Given the description of an element on the screen output the (x, y) to click on. 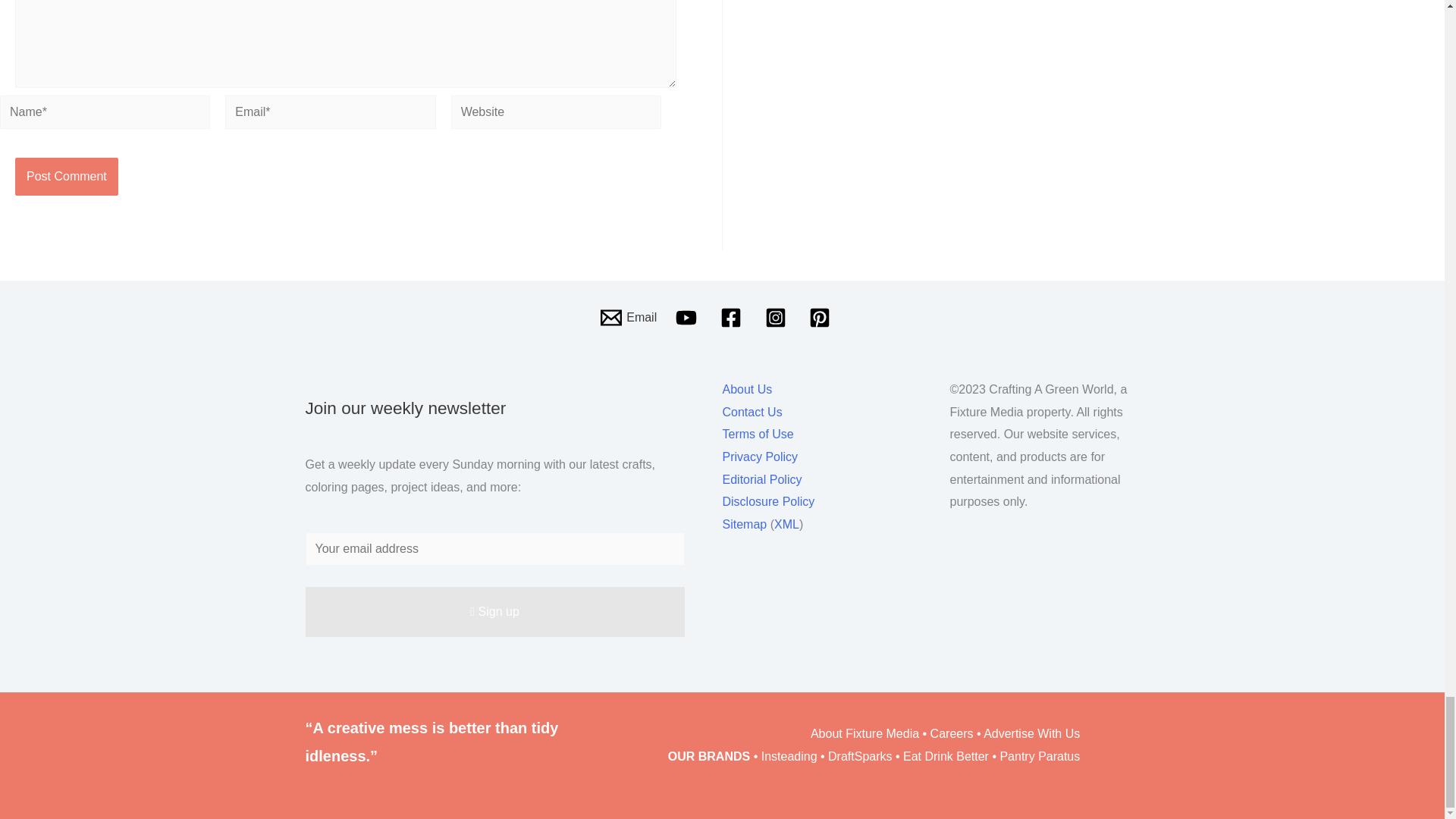
Post Comment (65, 176)
